Given the description of an element on the screen output the (x, y) to click on. 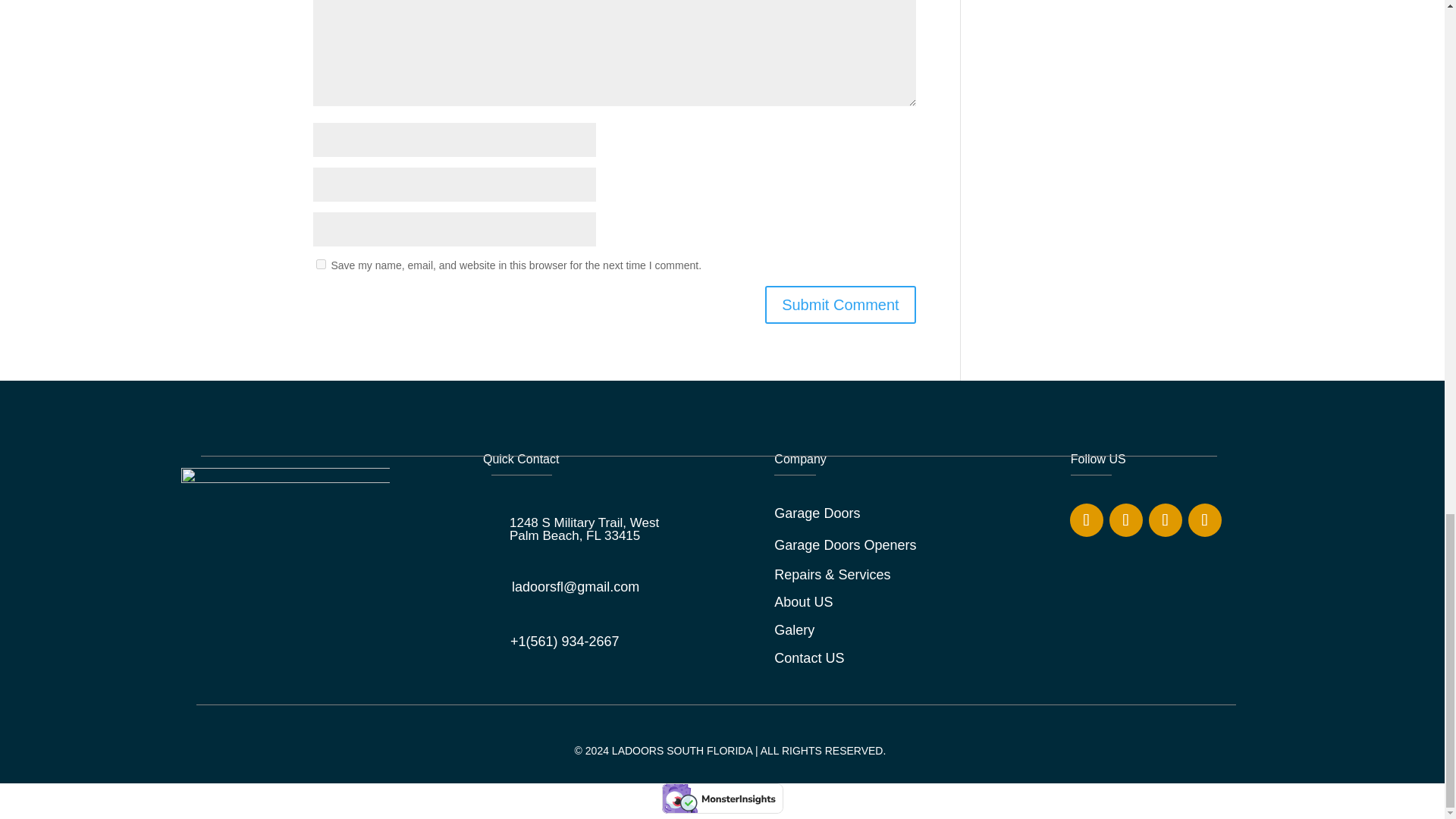
LOGO-LA-VARIANTE-BLANCO-2 (285, 571)
Follow on Instagram (1125, 520)
yes (319, 264)
Follow on Facebook (1086, 520)
Submit Comment (840, 304)
Submit Comment (840, 304)
